Given the description of an element on the screen output the (x, y) to click on. 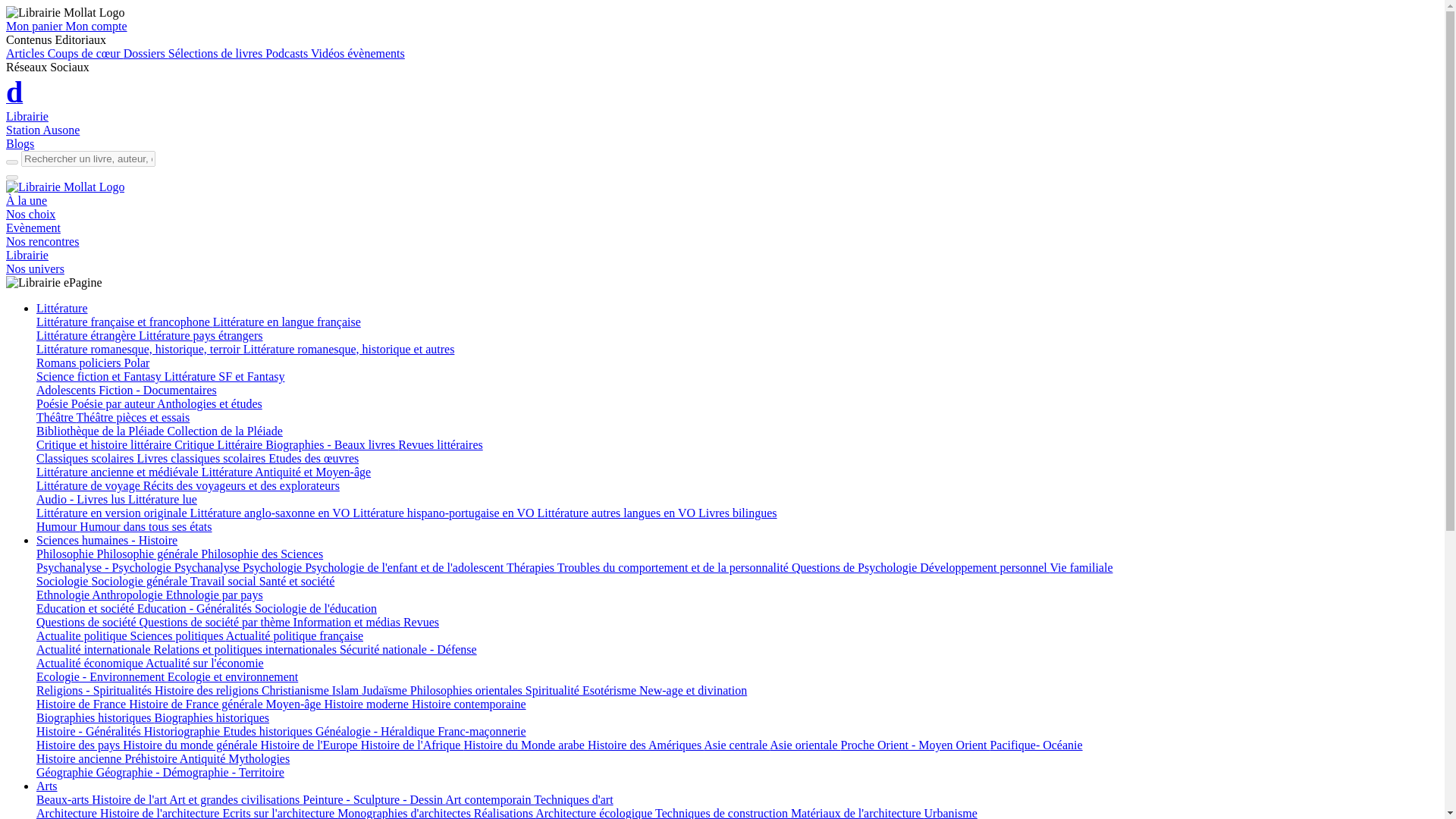
Dossiers (145, 52)
Fiction - Documentaires (157, 390)
Science fiction et Fantasy (100, 376)
Polar (136, 362)
Articles (26, 52)
Adolescents (67, 390)
Romans policiers (79, 362)
Mon compte (95, 25)
Podcasts (287, 52)
Mon panier (35, 25)
